Given the description of an element on the screen output the (x, y) to click on. 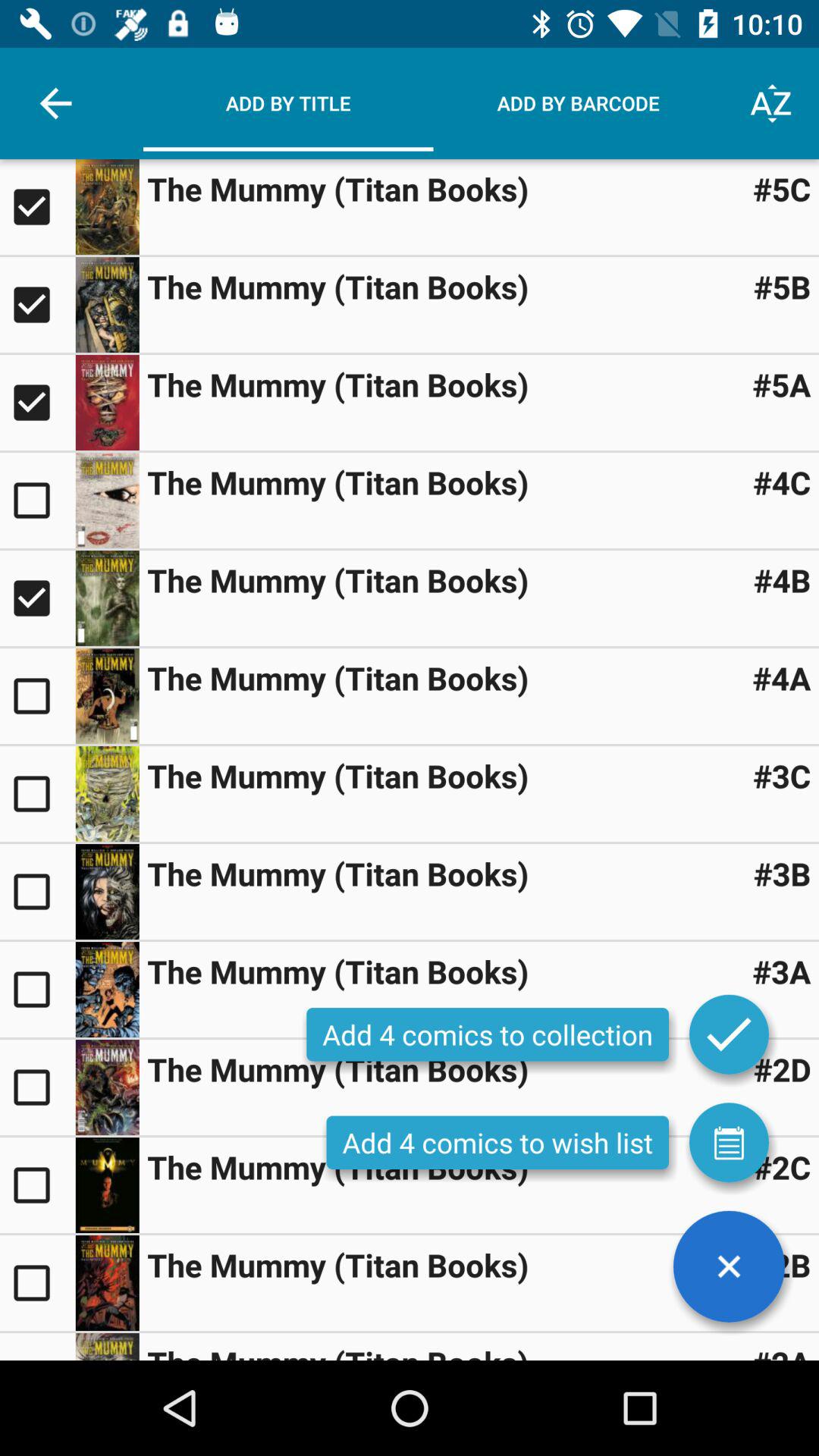
book image (107, 206)
